Given the description of an element on the screen output the (x, y) to click on. 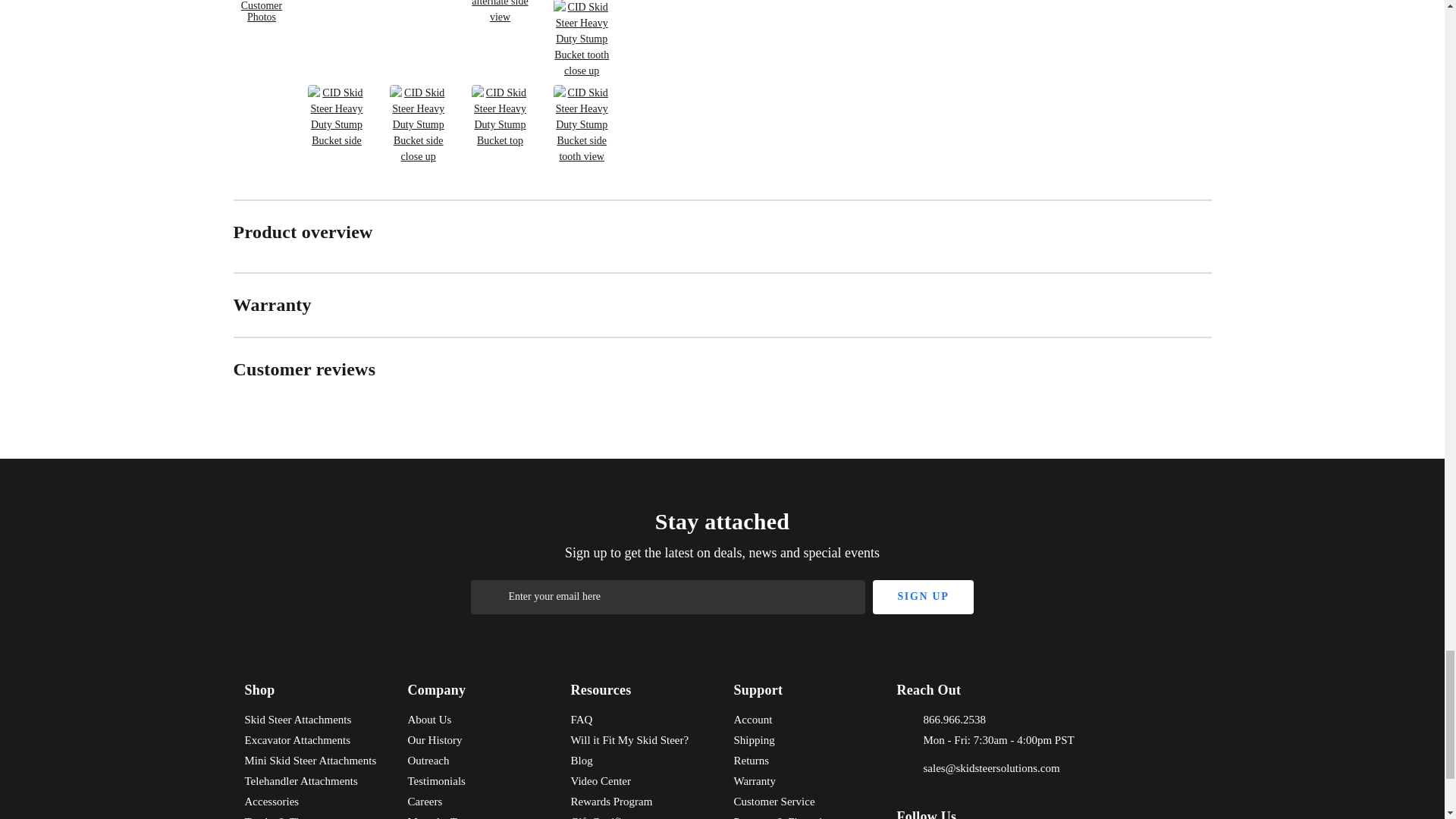
Sign Up (922, 596)
